Given the description of an element on the screen output the (x, y) to click on. 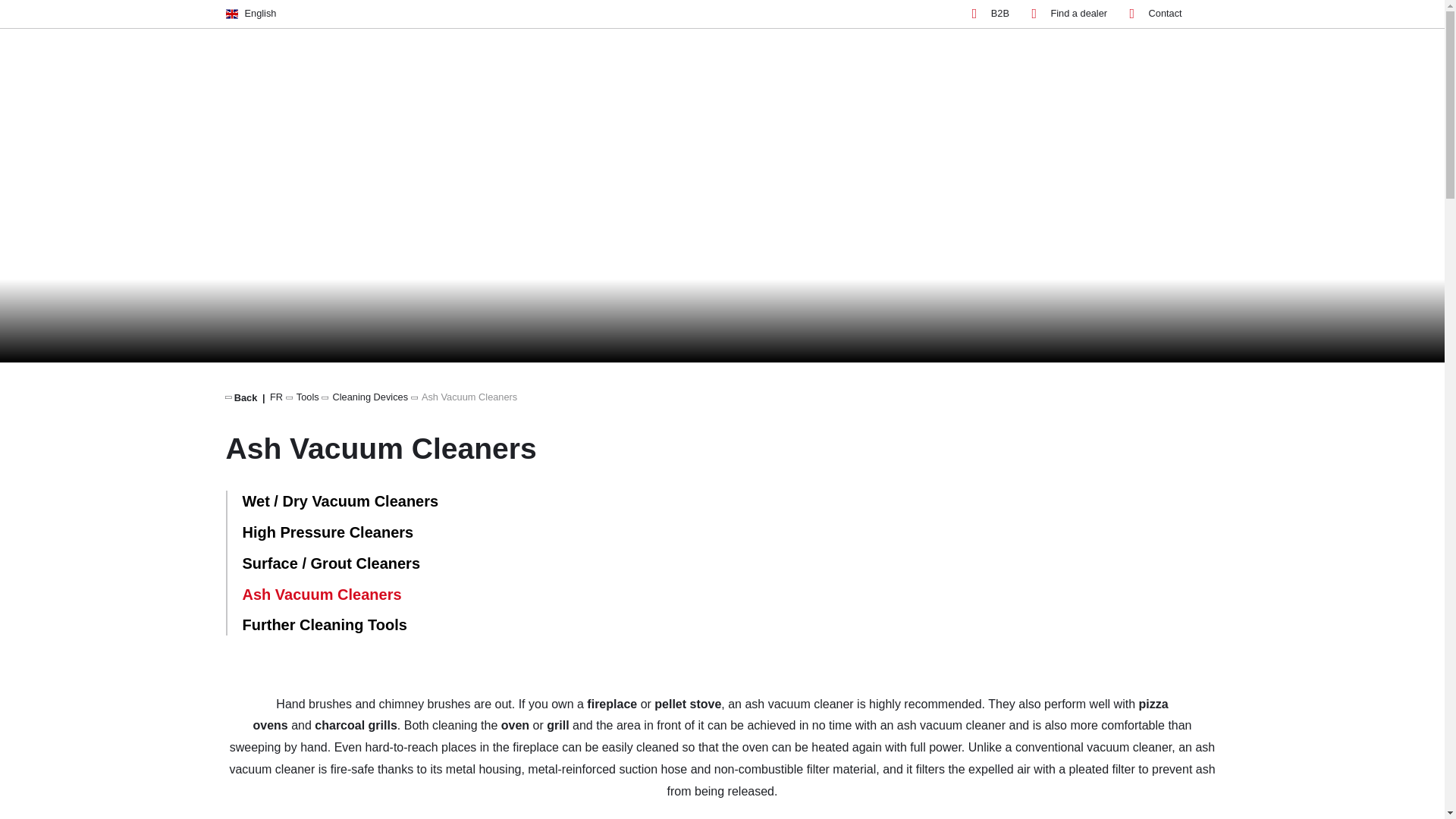
B2B (990, 13)
Tools (307, 396)
Contact (1155, 13)
Cleaning Devices (371, 396)
Find a dealer (1068, 13)
FR (275, 396)
